Given the description of an element on the screen output the (x, y) to click on. 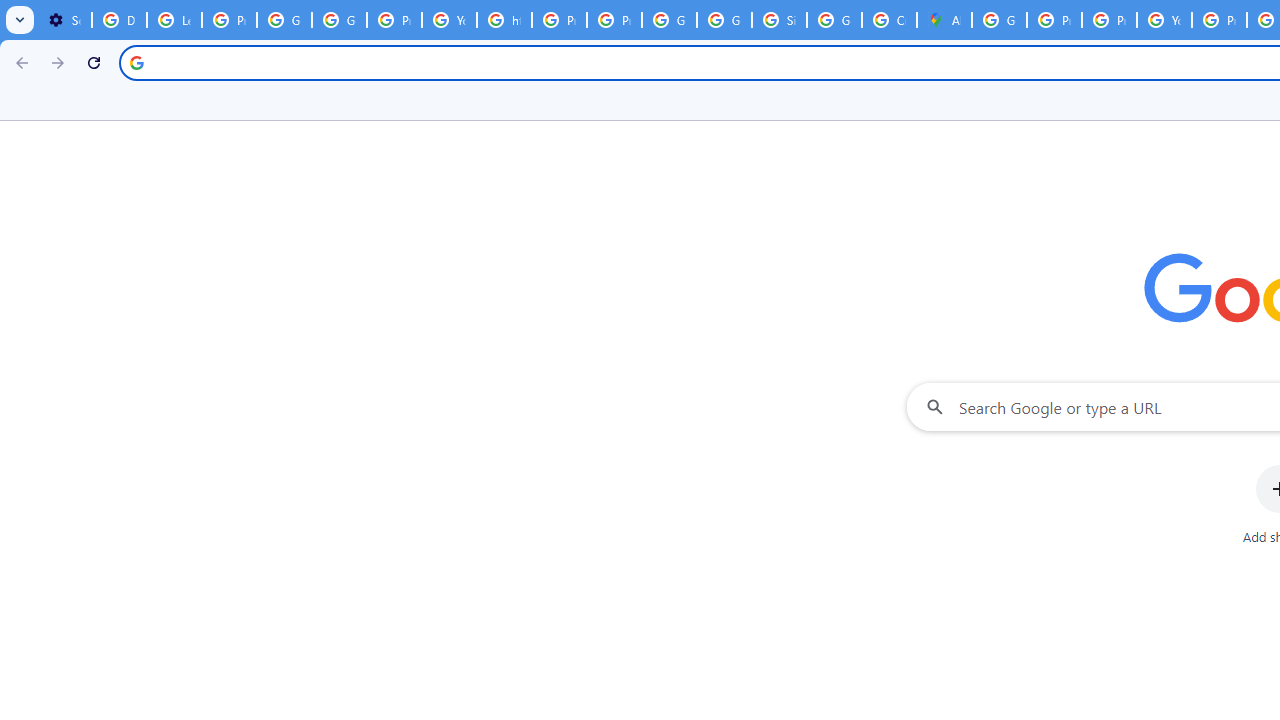
Create your Google Account (888, 20)
Sign in - Google Accounts (779, 20)
https://scholar.google.com/ (504, 20)
YouTube (449, 20)
Privacy Help Center - Policies Help (1053, 20)
